Given the description of an element on the screen output the (x, y) to click on. 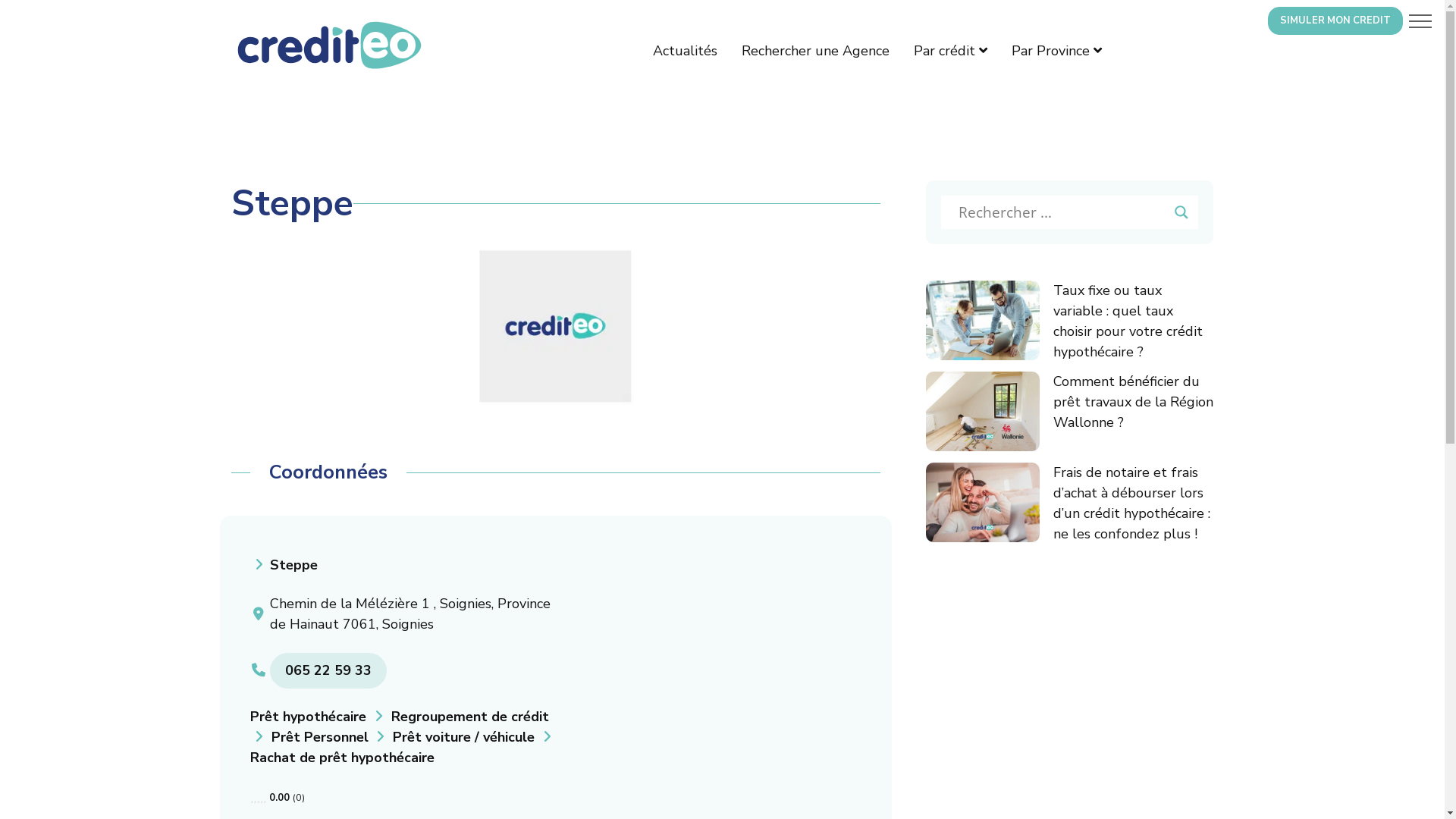
Davin Assurances Element type: hover (555, 326)
065 22 59 33 Element type: text (328, 670)
SIMULER MON CREDIT Element type: text (1334, 20)
Rechercher une Agence Element type: text (815, 50)
Par Province Element type: text (1056, 50)
